Given the description of an element on the screen output the (x, y) to click on. 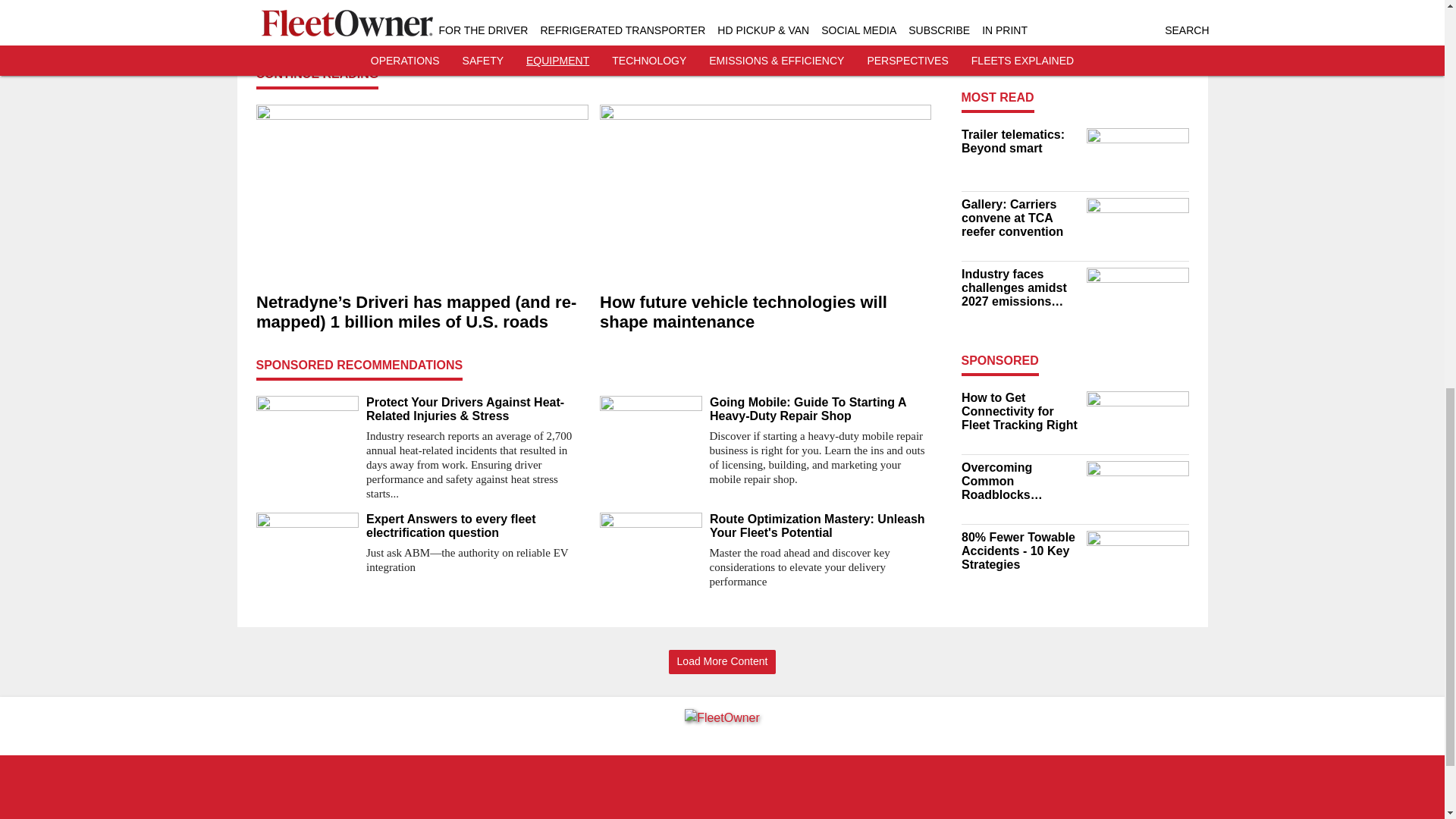
Route Optimization Mastery: Unleash Your Fleet's Potential (820, 525)
How future vehicle technologies will shape maintenance (764, 312)
I already have an account (593, 5)
Expert Answers to every fleet electrification question (476, 525)
Going Mobile: Guide To Starting A Heavy-Duty Repair Shop (820, 409)
